Given the description of an element on the screen output the (x, y) to click on. 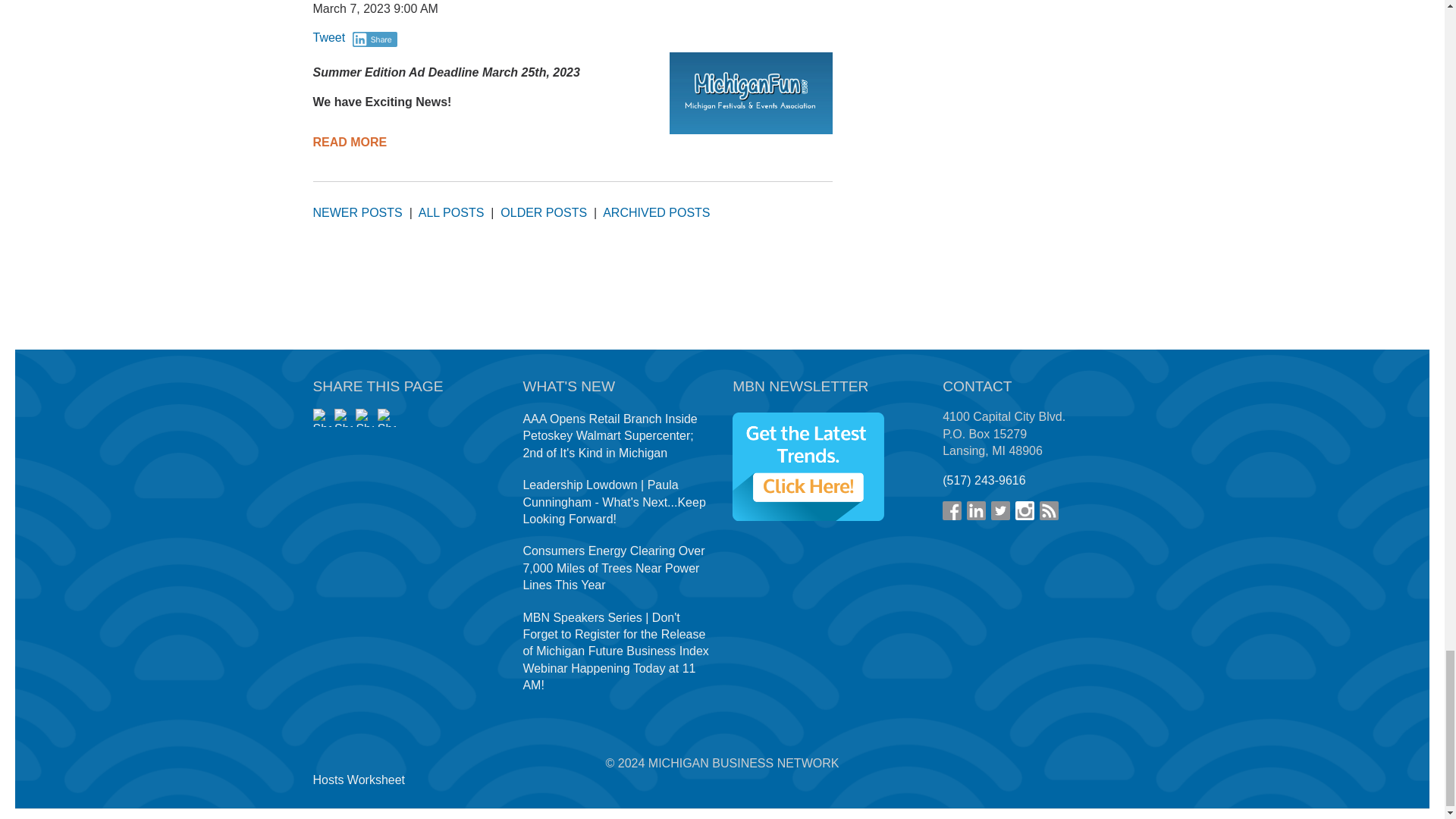
Connect with Instagram (1023, 510)
Follow on Twitter (1000, 510)
Follow on Facebook (951, 510)
Connect on Linkedin (975, 510)
